Given the description of an element on the screen output the (x, y) to click on. 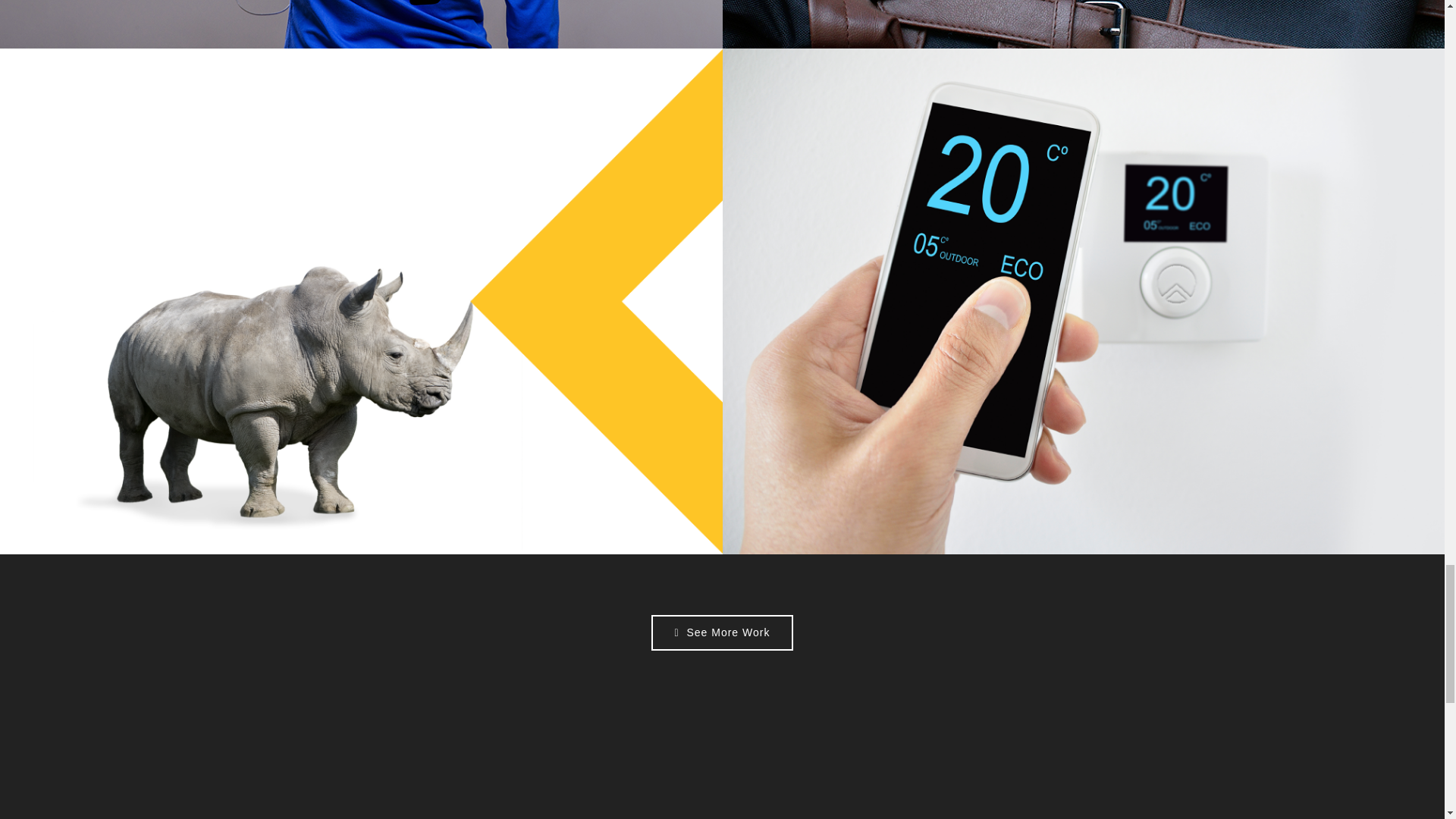
See More Work (721, 632)
